Given the description of an element on the screen output the (x, y) to click on. 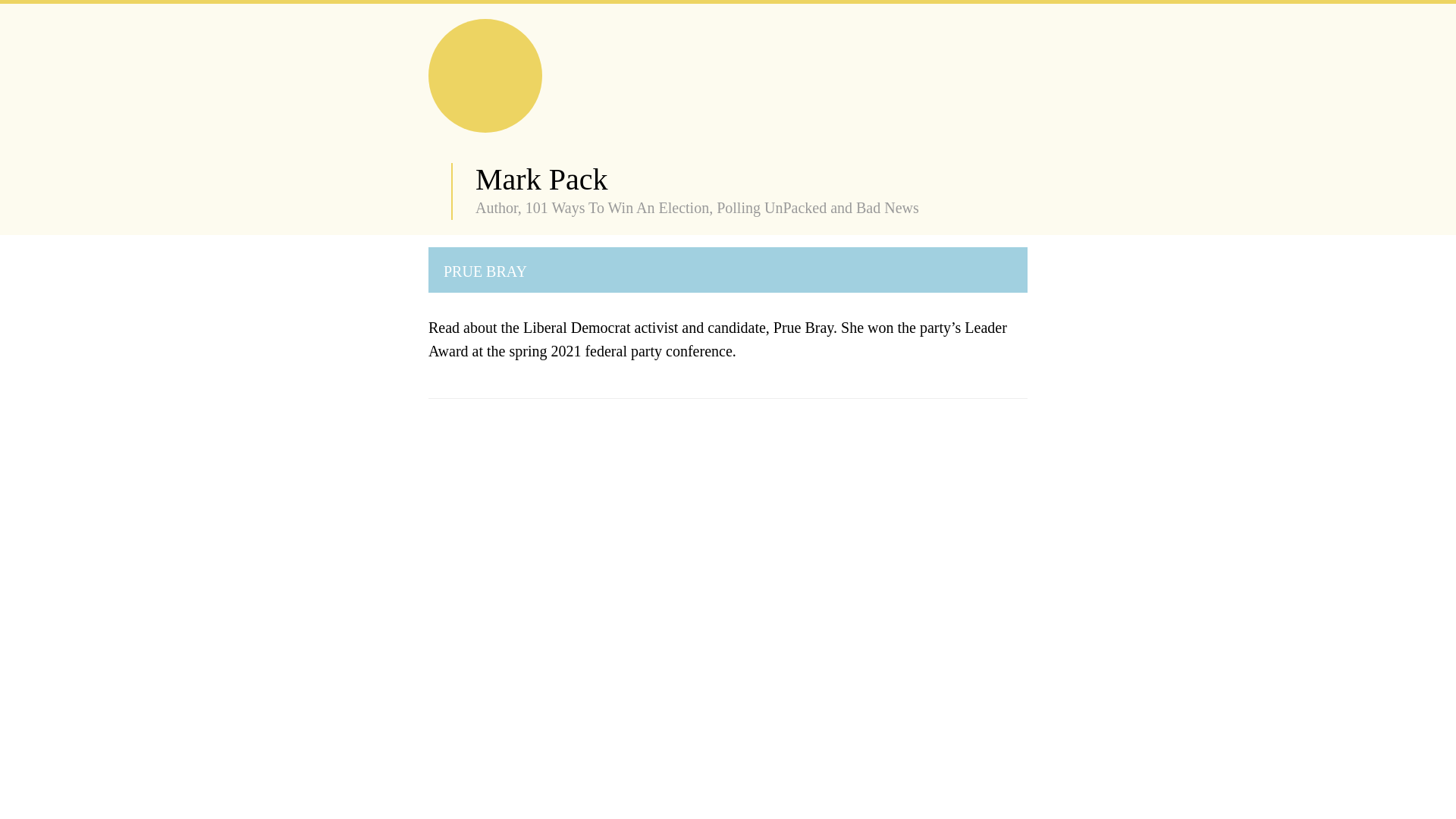
Mark Pack (541, 179)
